Given the description of an element on the screen output the (x, y) to click on. 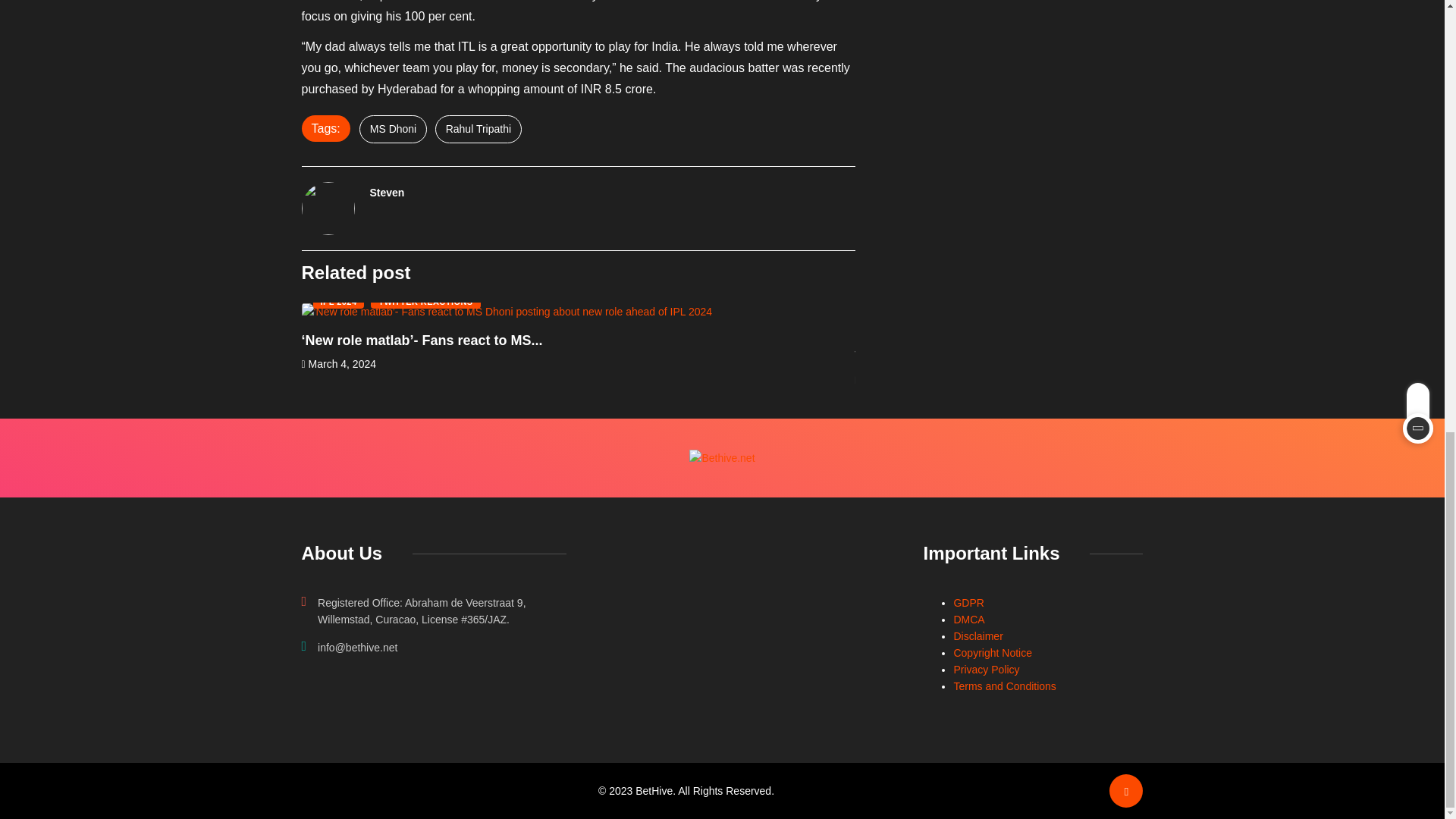
IPL 2024 (338, 301)
MS Dhoni (392, 129)
TWITTER REACTIONS (425, 301)
Rahul Tripathi (478, 129)
